Given the description of an element on the screen output the (x, y) to click on. 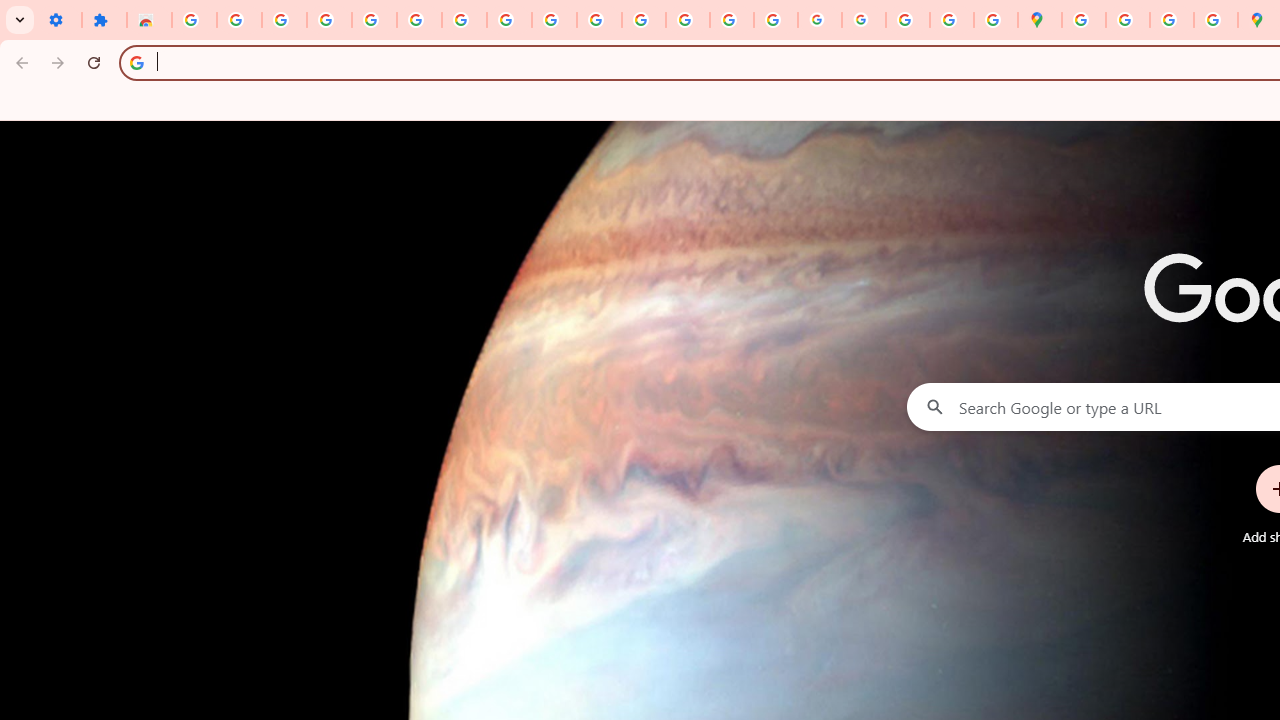
https://scholar.google.com/ (643, 20)
Sign in - Google Accounts (194, 20)
Google Account (509, 20)
YouTube (554, 20)
Google Maps (1039, 20)
Sign in - Google Accounts (418, 20)
